Given the description of an element on the screen output the (x, y) to click on. 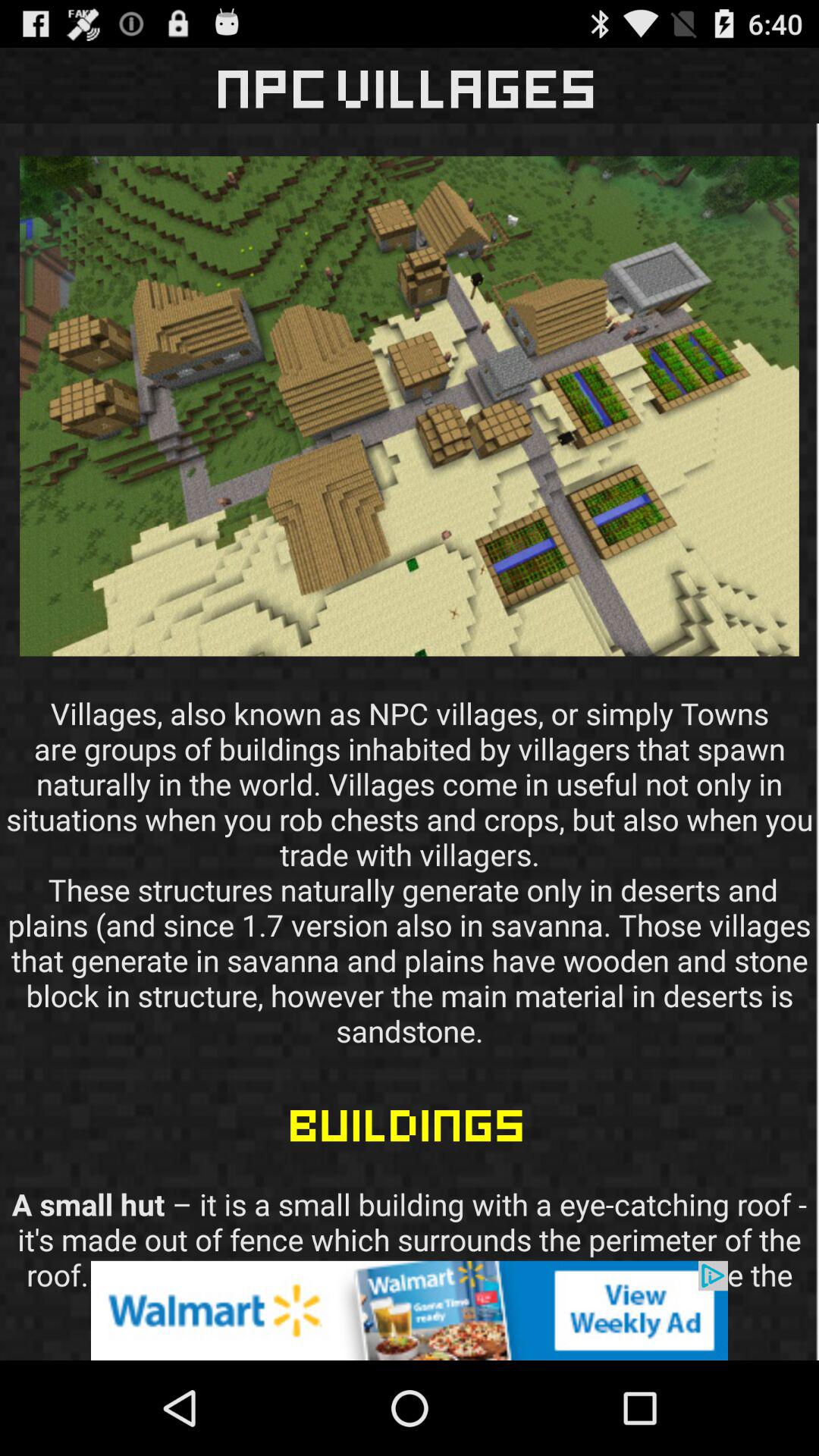
go to the walmart homepage (409, 1310)
